Given the description of an element on the screen output the (x, y) to click on. 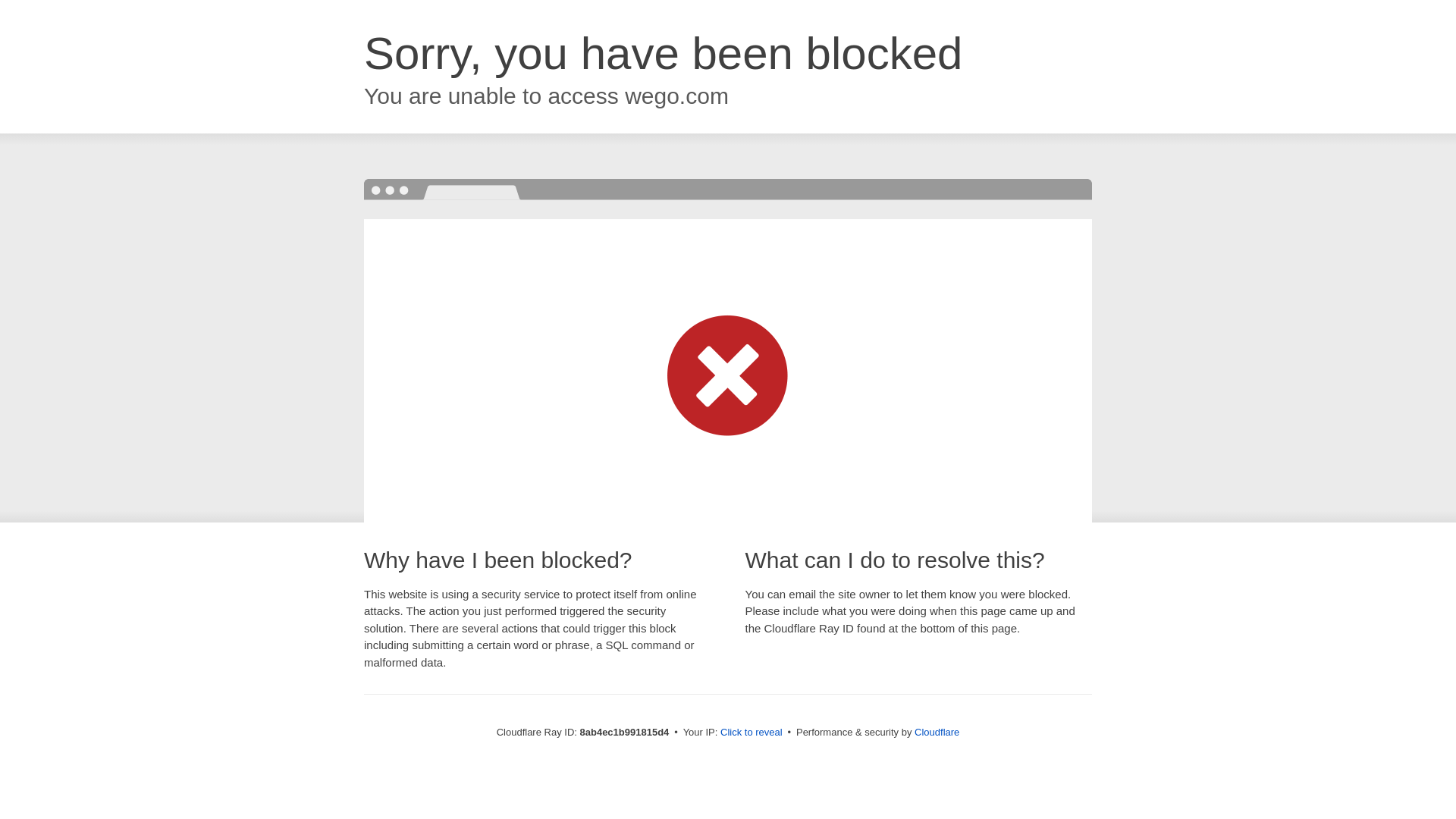
Cloudflare (936, 731)
Click to reveal (751, 732)
